Given the description of an element on the screen output the (x, y) to click on. 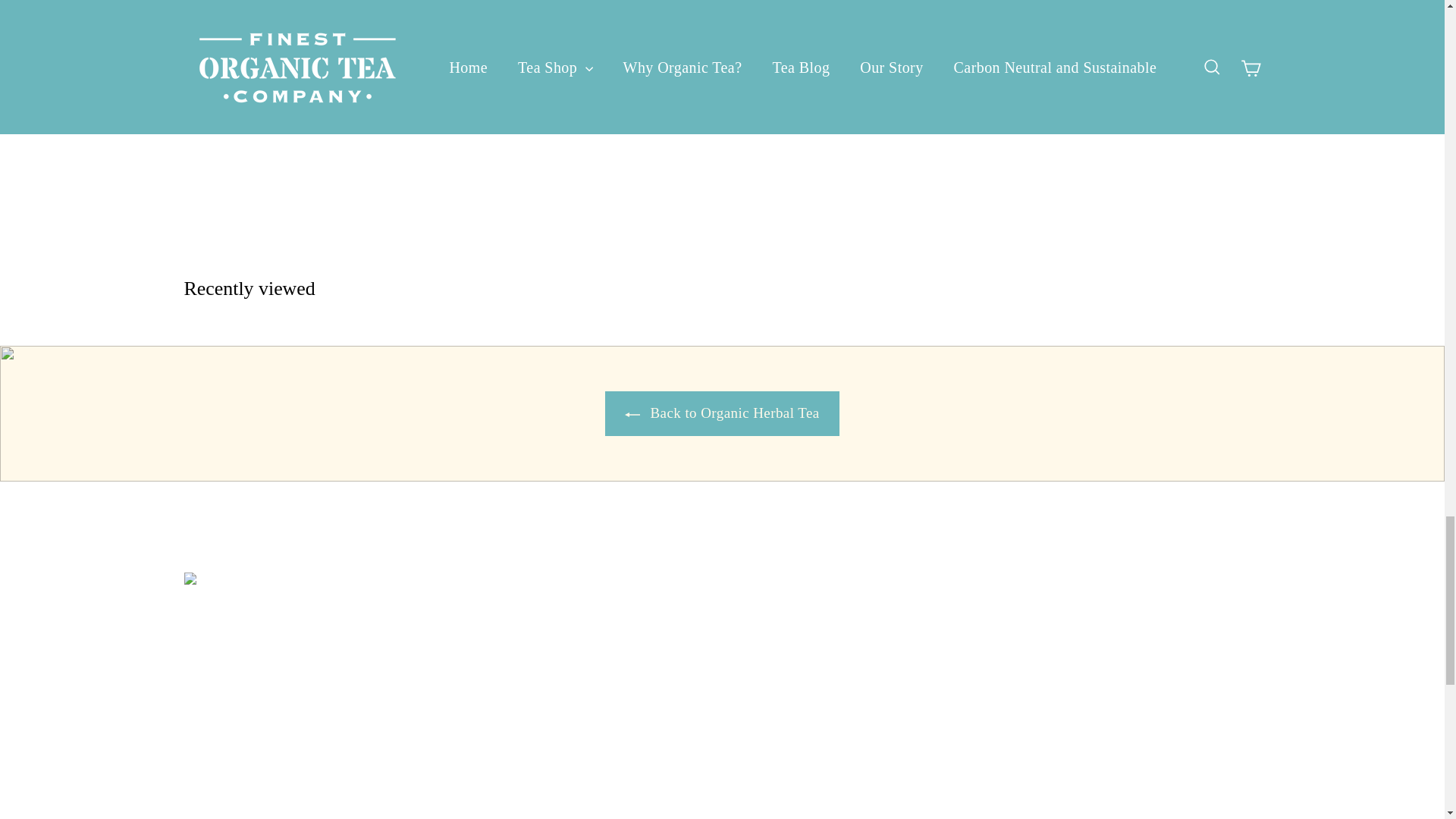
icon-left-arrow (632, 414)
